Given the description of an element on the screen output the (x, y) to click on. 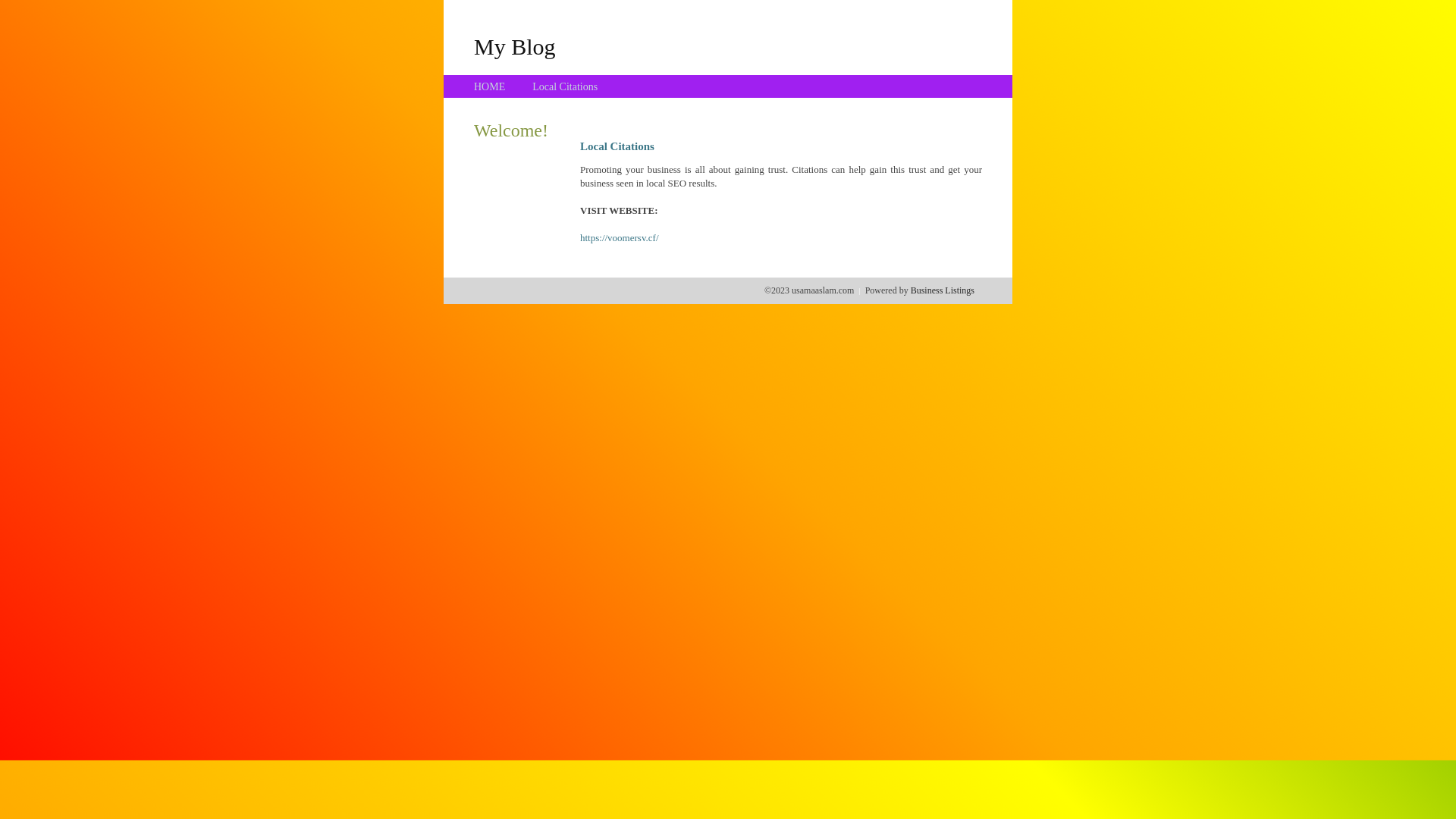
HOME Element type: text (489, 86)
https://voomersv.cf/ Element type: text (619, 237)
Business Listings Element type: text (942, 290)
My Blog Element type: text (514, 46)
Local Citations Element type: text (564, 86)
